Given the description of an element on the screen output the (x, y) to click on. 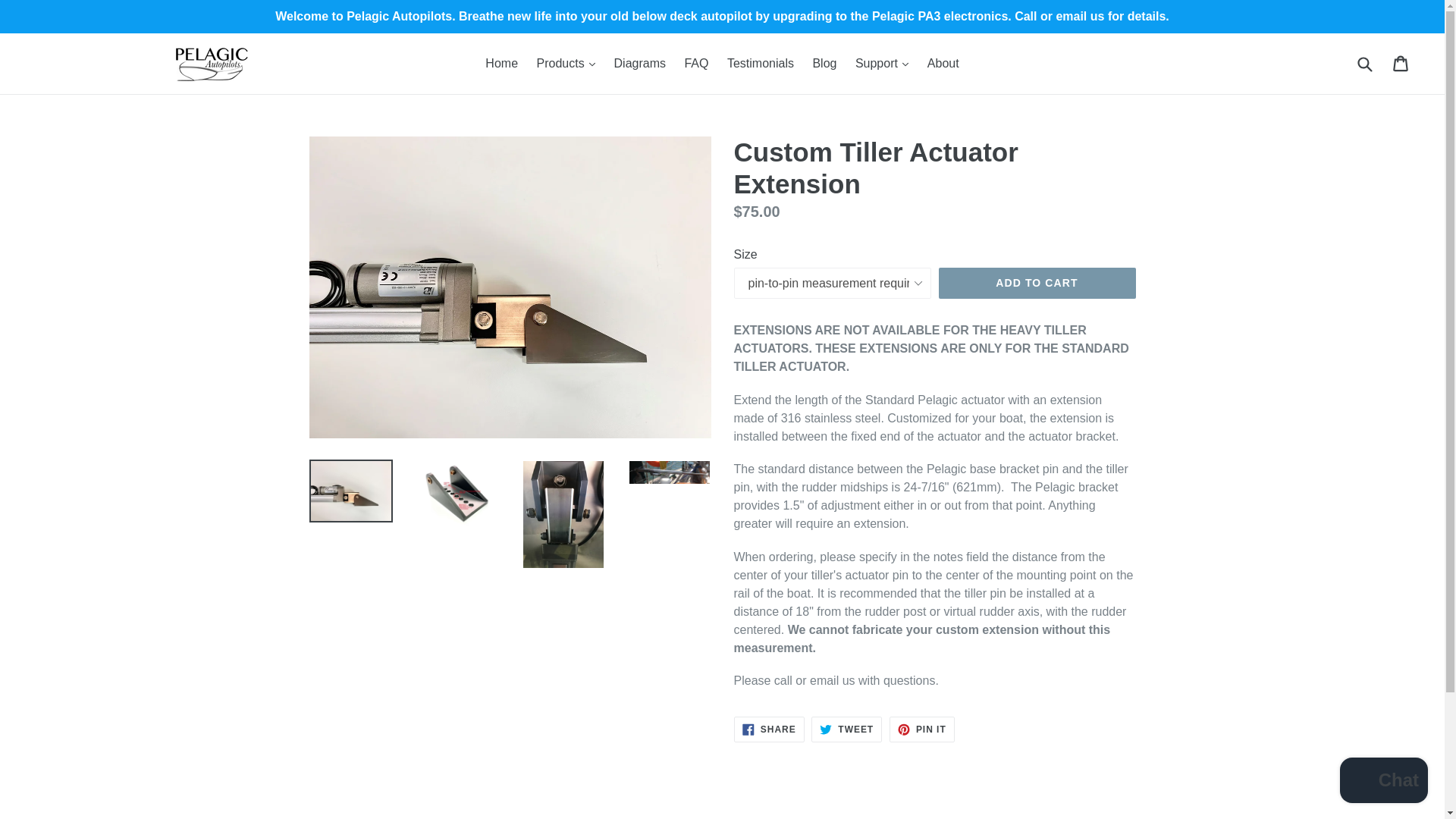
Testimonials (760, 63)
FAQ (696, 63)
Diagrams (639, 63)
Shopify online store chat (1383, 781)
Tweet on Twitter (846, 729)
Share on Facebook (769, 729)
Home (501, 63)
Pin on Pinterest (922, 729)
Blog (824, 63)
About (943, 63)
